Given the description of an element on the screen output the (x, y) to click on. 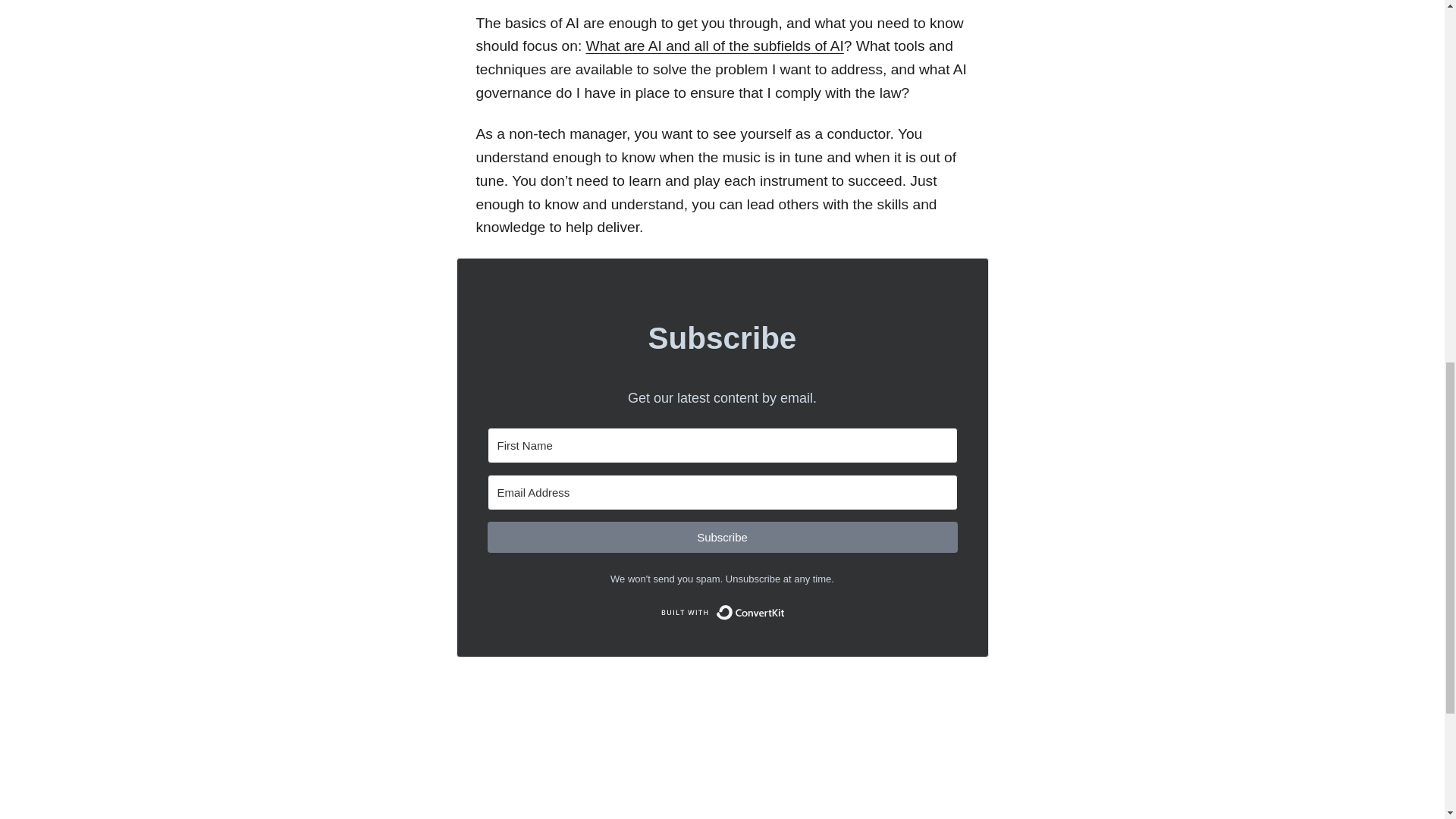
What are AI and all of the subfields of AI (715, 45)
Subscribe (721, 536)
Built with ConvertKit (722, 612)
